Given the description of an element on the screen output the (x, y) to click on. 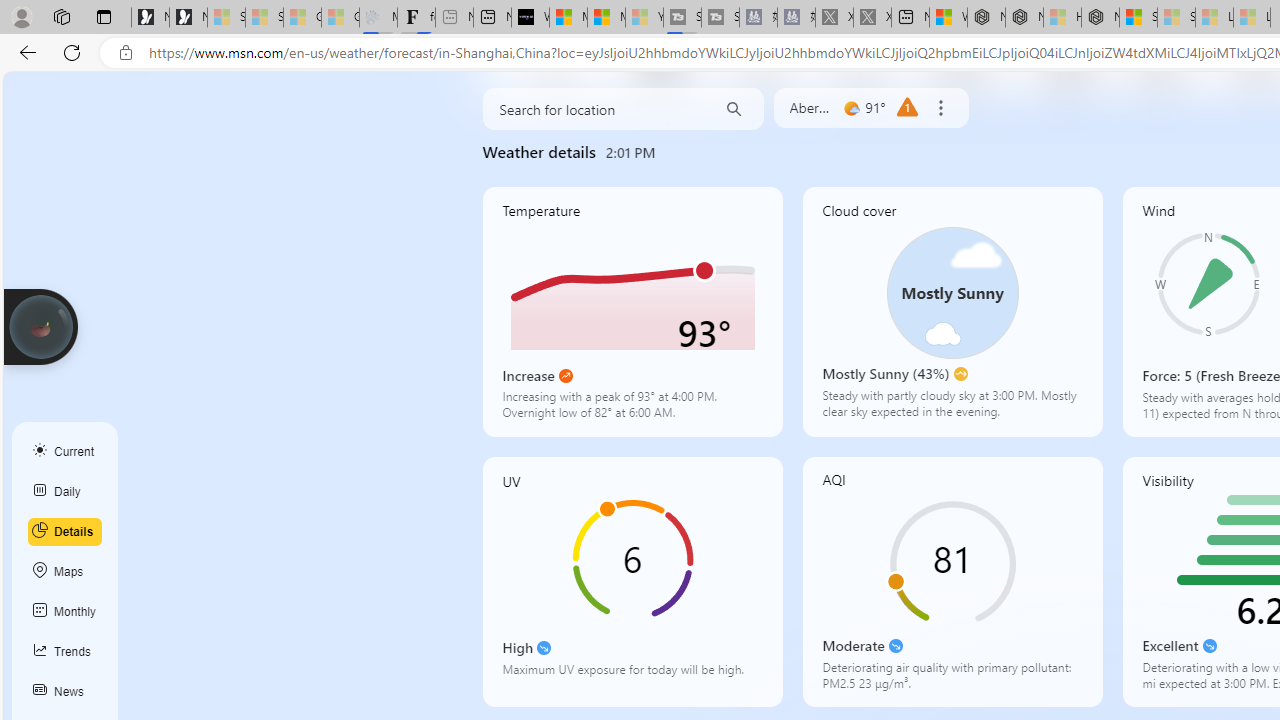
Join us in planting real trees to help our planet! (40, 325)
Remove location (940, 107)
